Given the description of an element on the screen output the (x, y) to click on. 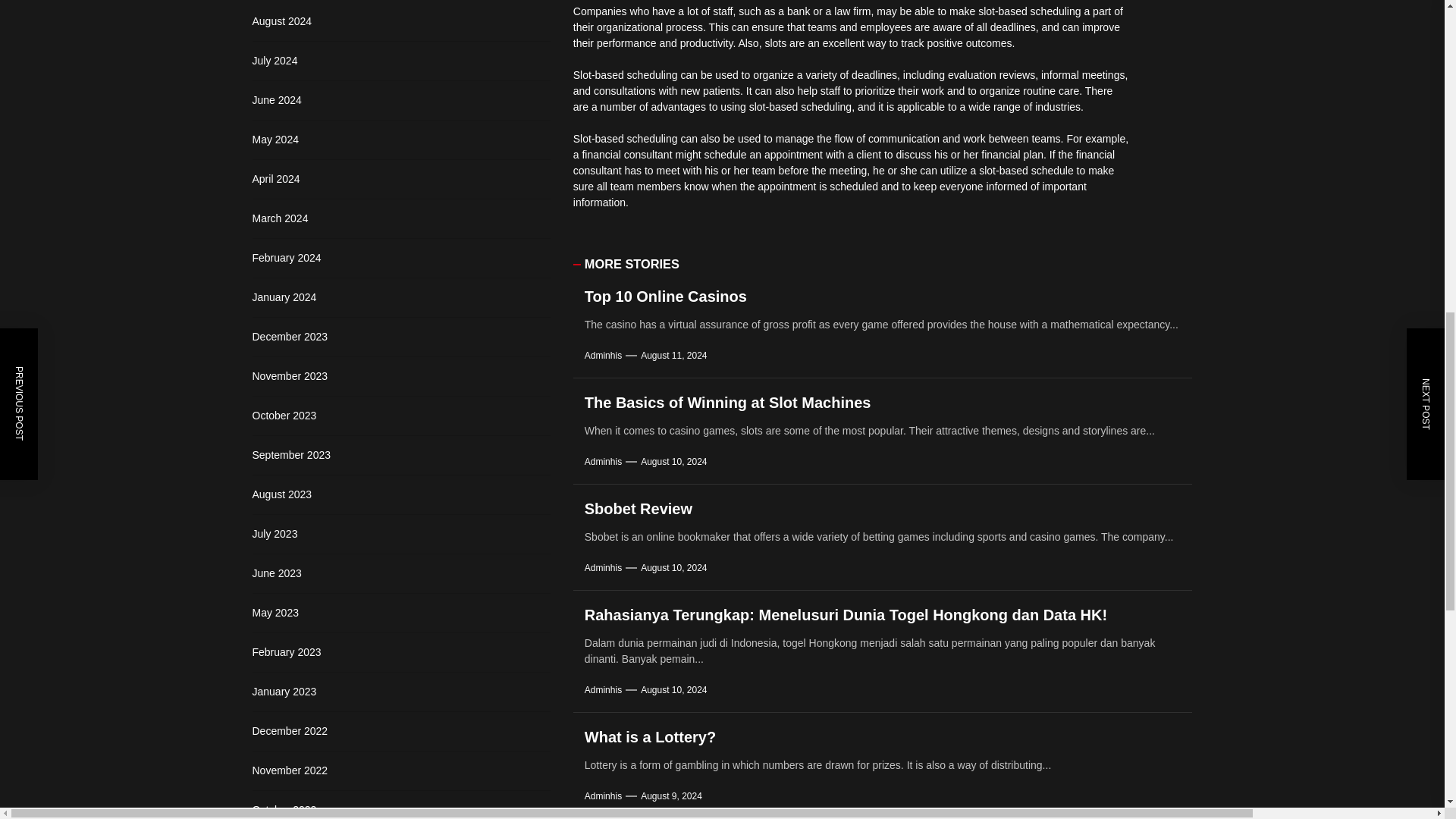
Top 10 Online Casinos (665, 296)
Adminhis (603, 567)
Sbobet Review (639, 508)
The Basics of Winning at Slot Machines (727, 402)
Adminhis (603, 355)
Adminhis (603, 461)
August 10, 2024 (673, 567)
August 11, 2024 (673, 355)
August 10, 2024 (673, 461)
